Given the description of an element on the screen output the (x, y) to click on. 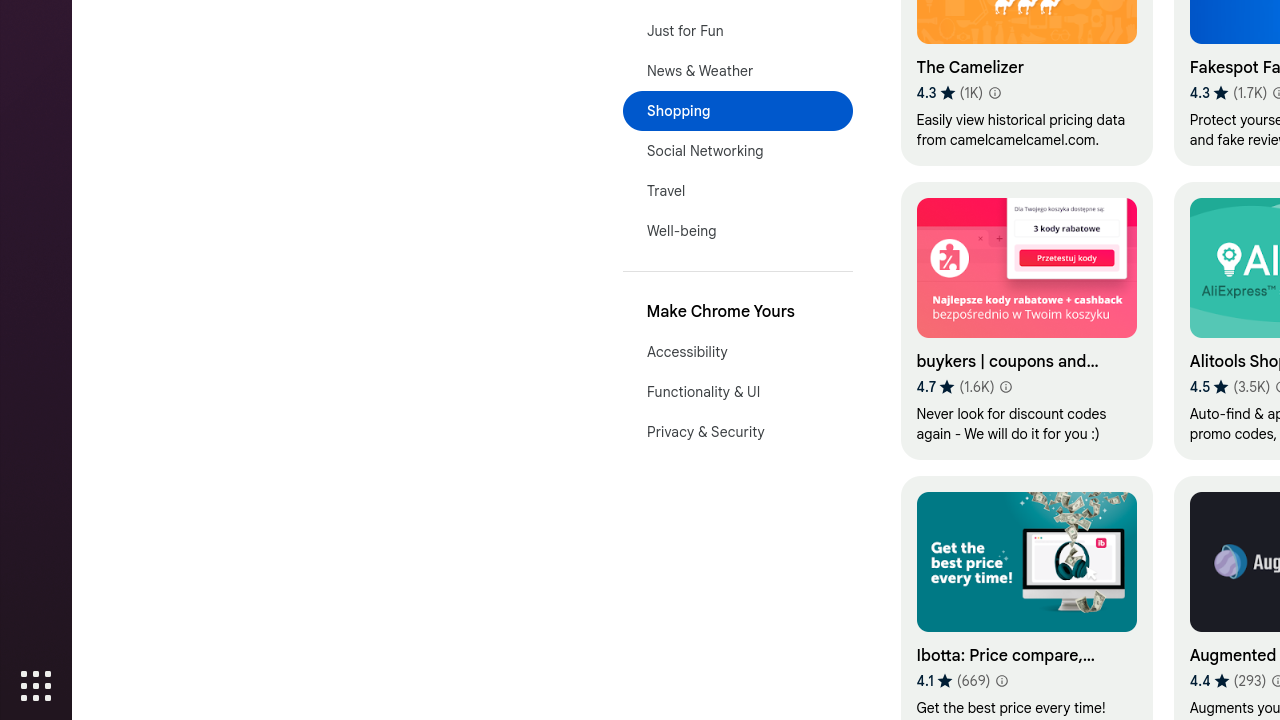
News & Weather Element type: menu-item (737, 71)
Learn more about results and reviews "buykers | coupons and discount codes" Element type: push-button (1006, 387)
Show Applications Element type: toggle-button (36, 686)
Travel Element type: menu-item (737, 191)
Accessibility Element type: menu-item (737, 352)
